Given the description of an element on the screen output the (x, y) to click on. 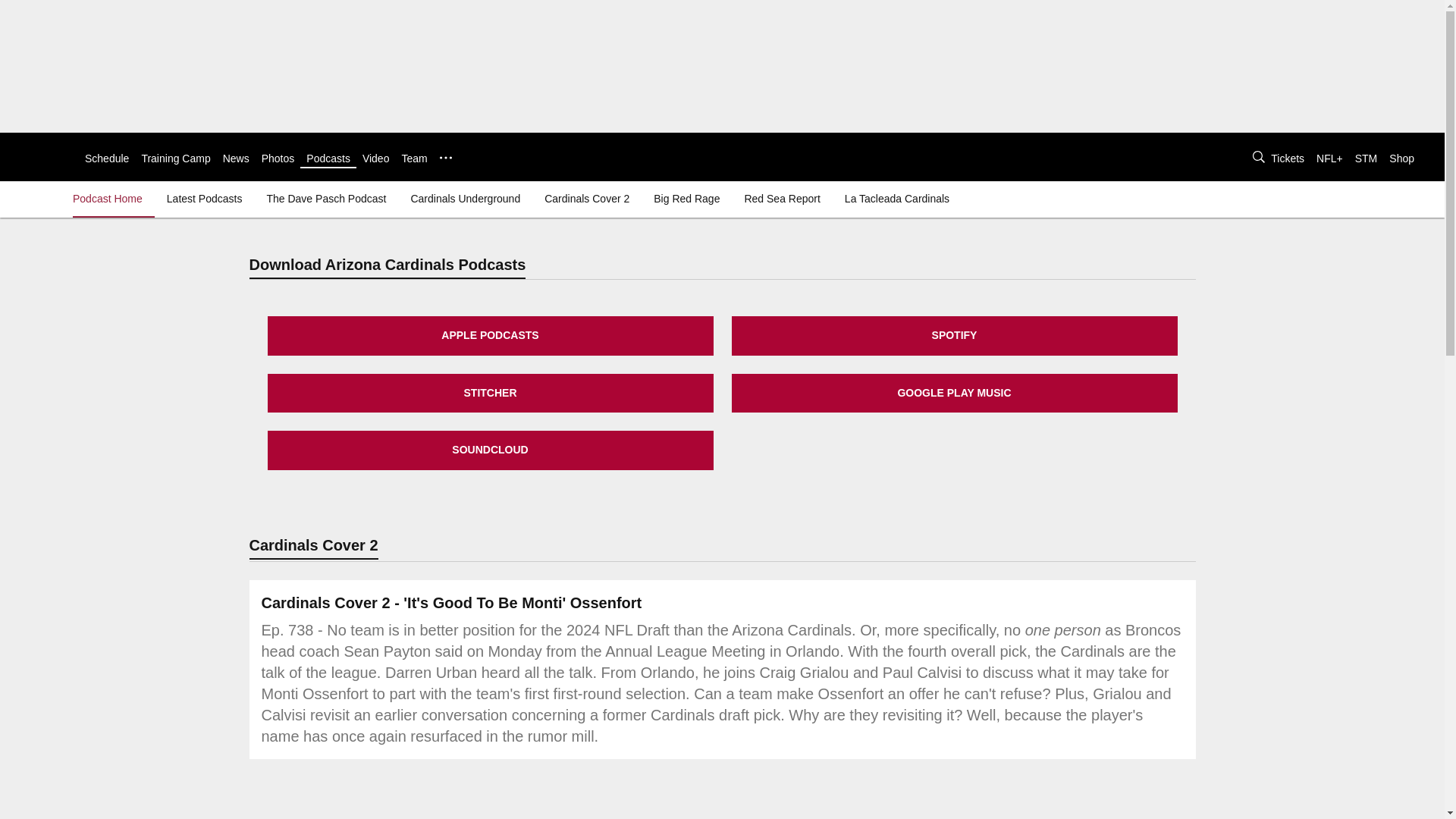
Tickets (1287, 158)
STM (1366, 158)
Podcasts (327, 158)
Schedule (106, 158)
News (235, 158)
Shop (1401, 158)
... (445, 157)
The Dave Pasch Podcast (325, 198)
Red Sea Report (781, 198)
Cardinals Underground (464, 198)
News (235, 158)
Podcasts (327, 158)
La Tacleada Cardinals (896, 198)
SPOTIFY (953, 335)
Team (413, 158)
